Given the description of an element on the screen output the (x, y) to click on. 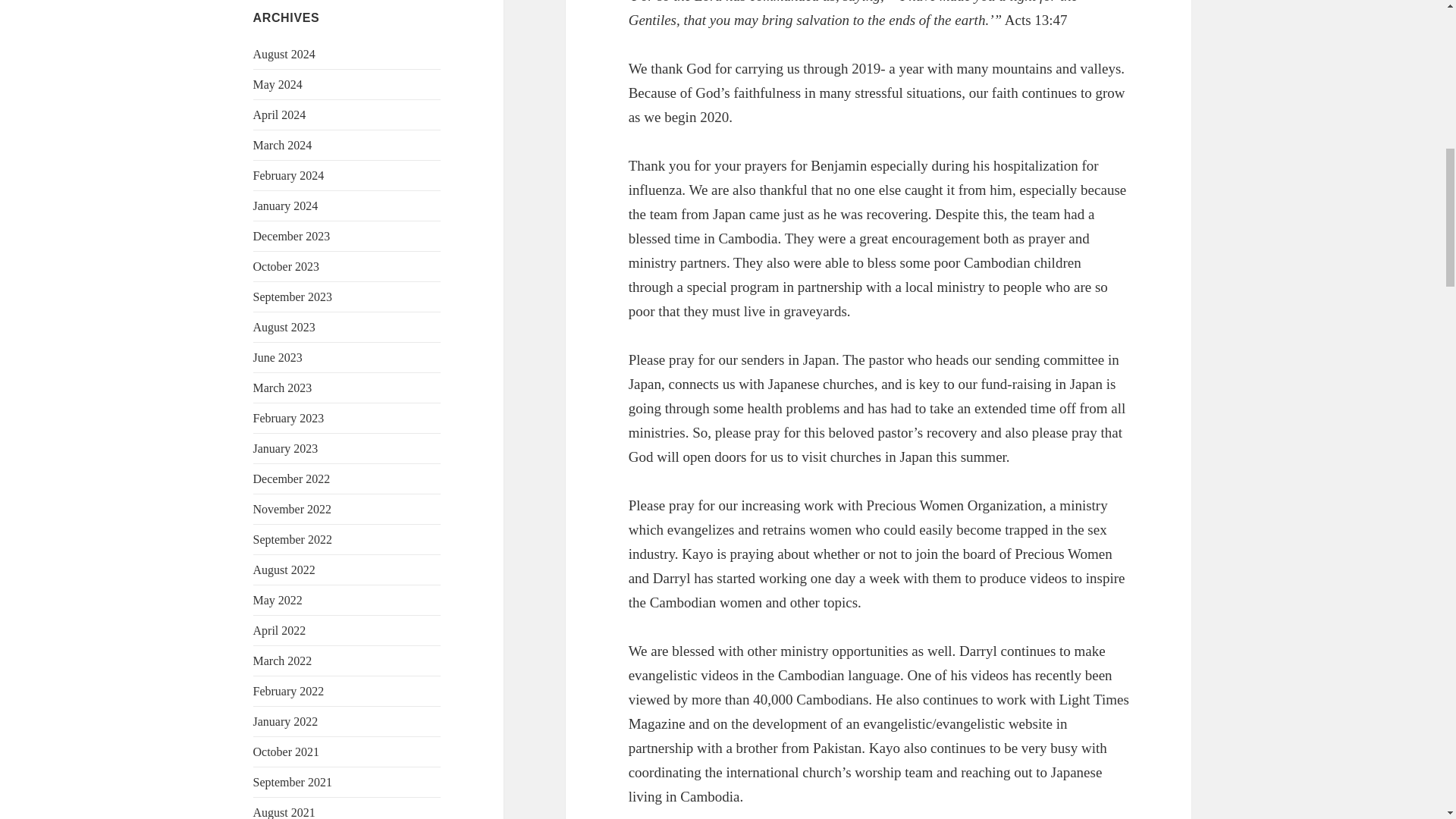
February 2022 (288, 690)
March 2024 (283, 144)
September 2022 (292, 539)
February 2023 (288, 418)
November 2022 (292, 508)
August 2021 (284, 812)
April 2024 (279, 114)
December 2023 (291, 236)
January 2023 (285, 448)
August 2024 (284, 53)
